Given the description of an element on the screen output the (x, y) to click on. 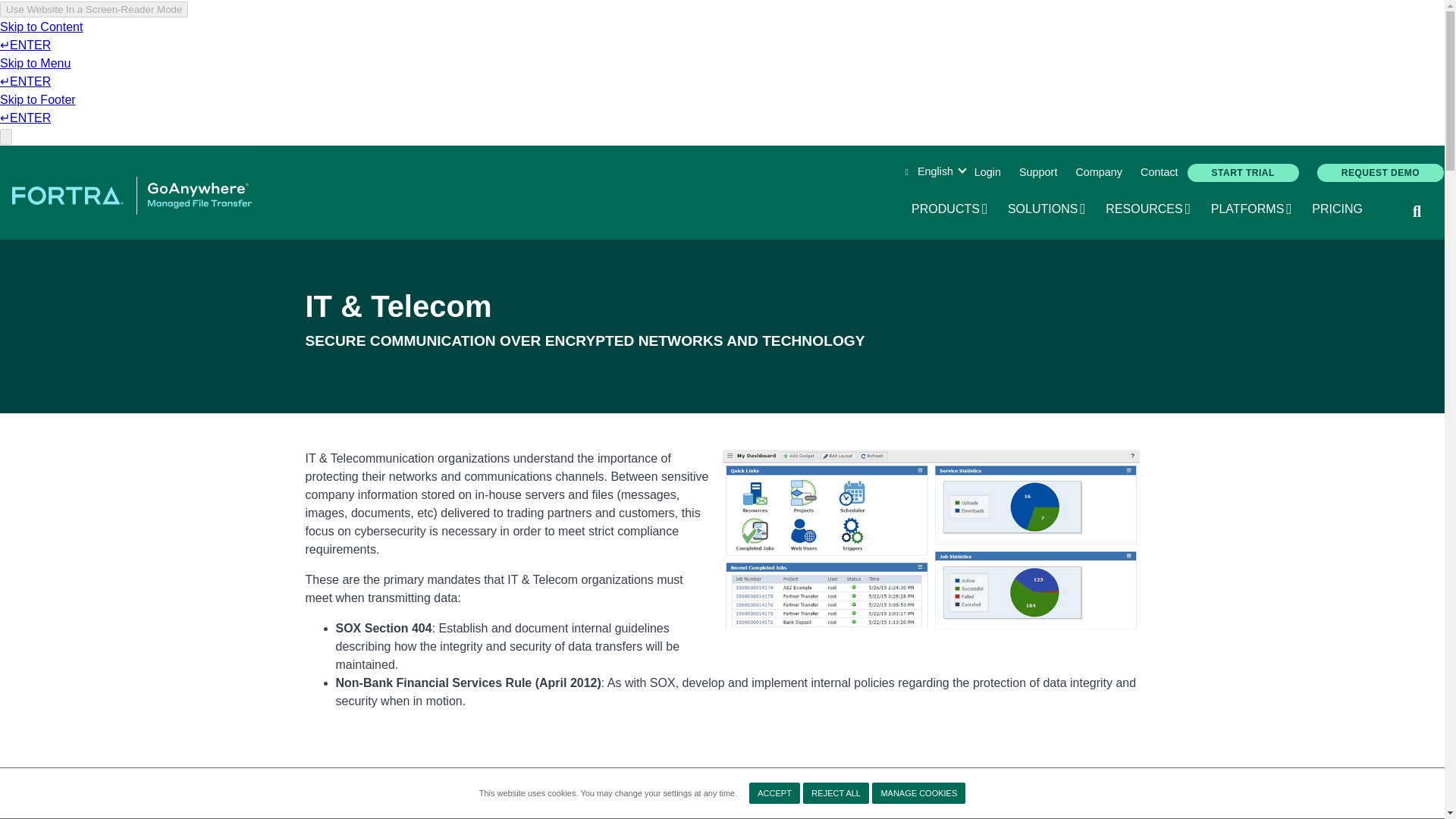
Login (987, 172)
REQUEST DEMO (1380, 172)
Support (1037, 172)
MANAGE COOKIES (918, 793)
Contact (1159, 172)
REJECT ALL (950, 208)
ACCEPT (836, 793)
Home (1047, 208)
Company (774, 793)
About GoAnywhere (131, 194)
START TRIAL (1098, 172)
Skip to main content (1098, 172)
MFT file transfer solution page (1243, 172)
